Given the description of an element on the screen output the (x, y) to click on. 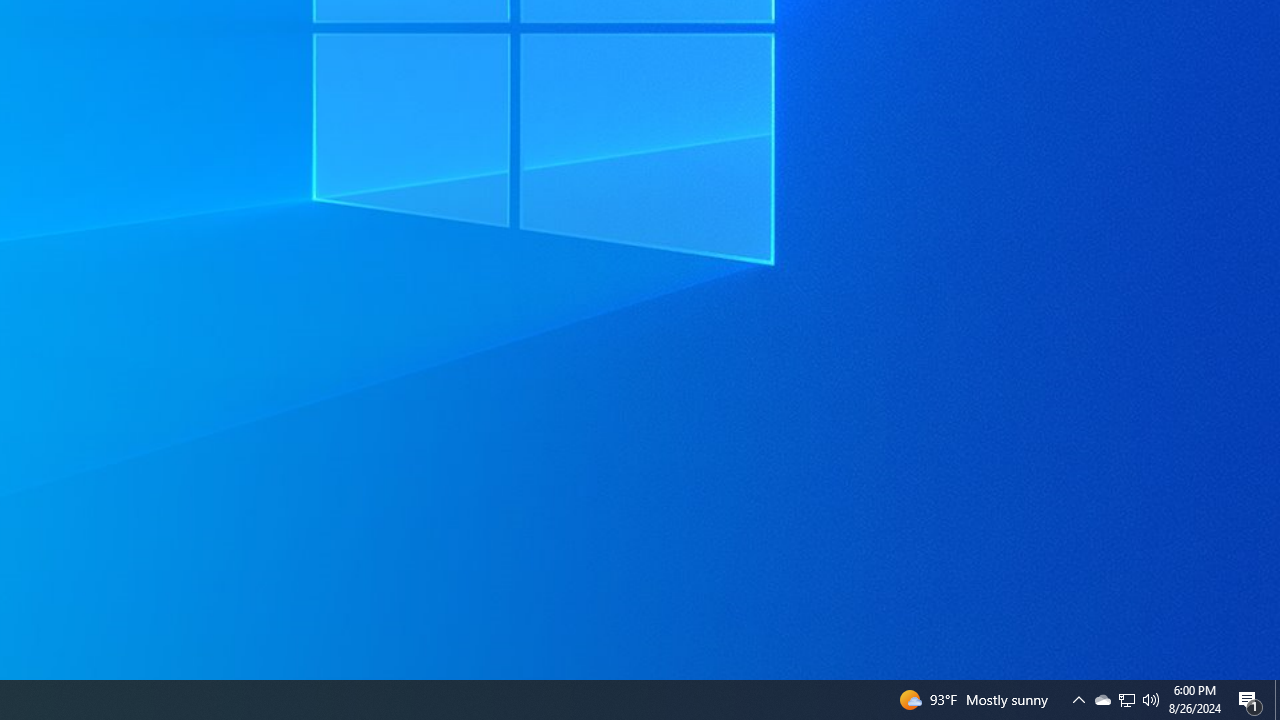
Action Center, 1 new notification (1102, 699)
Notification Chevron (1250, 699)
Show desktop (1078, 699)
Q2790: 100% (1277, 699)
User Promoted Notification Area (1151, 699)
